Given the description of an element on the screen output the (x, y) to click on. 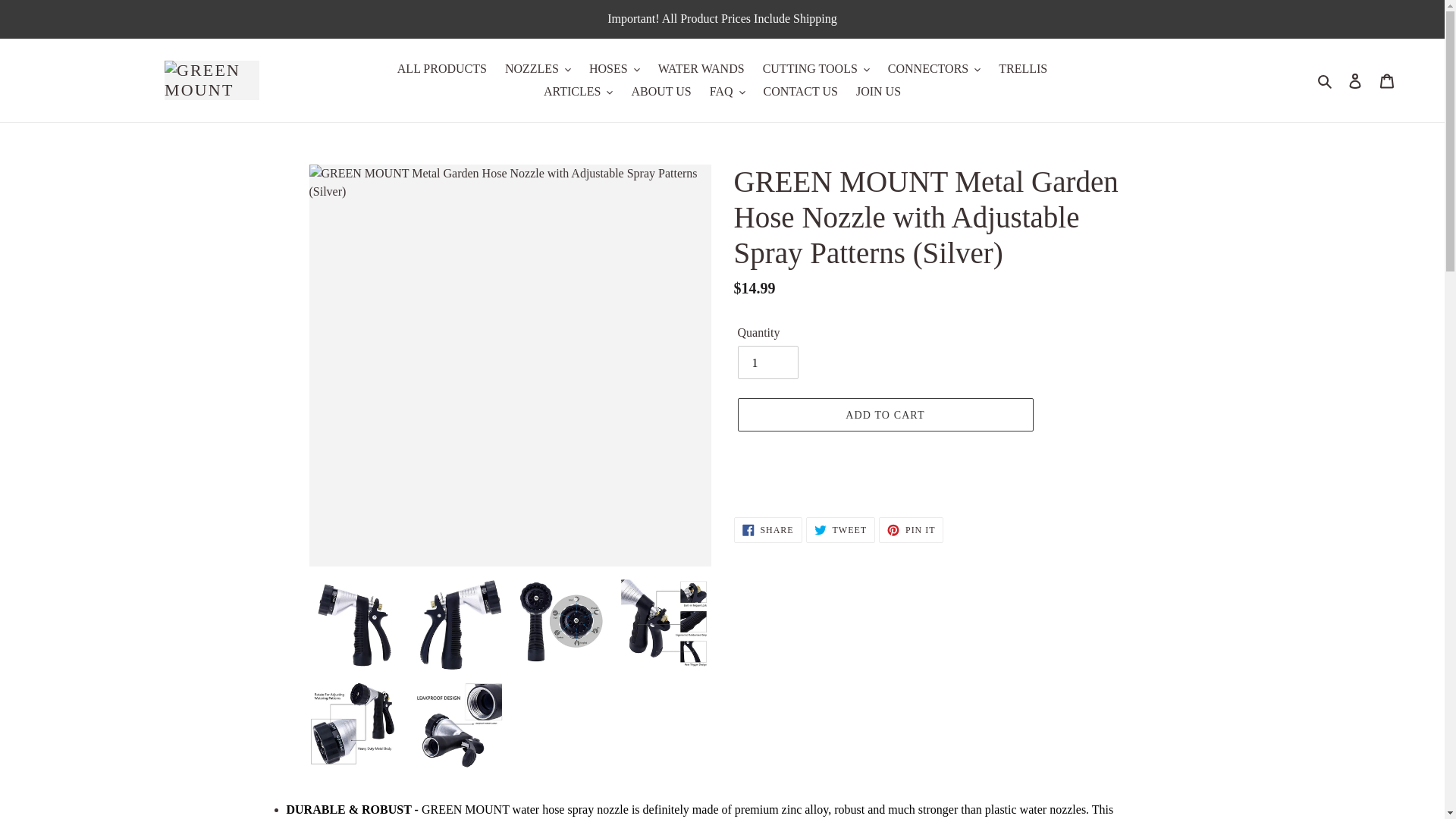
CONTACT US (800, 91)
ARTICLES (577, 91)
1 (766, 362)
Search (1326, 80)
WATER WANDS (701, 68)
HOSES (613, 68)
CUTTING TOOLS (816, 68)
ALL PRODUCTS (442, 68)
CONNECTORS (934, 68)
ABOUT US (660, 91)
JOIN US (878, 91)
NOZZLES (537, 68)
FAQ (726, 91)
TRELLIS (1022, 68)
